Given the description of an element on the screen output the (x, y) to click on. 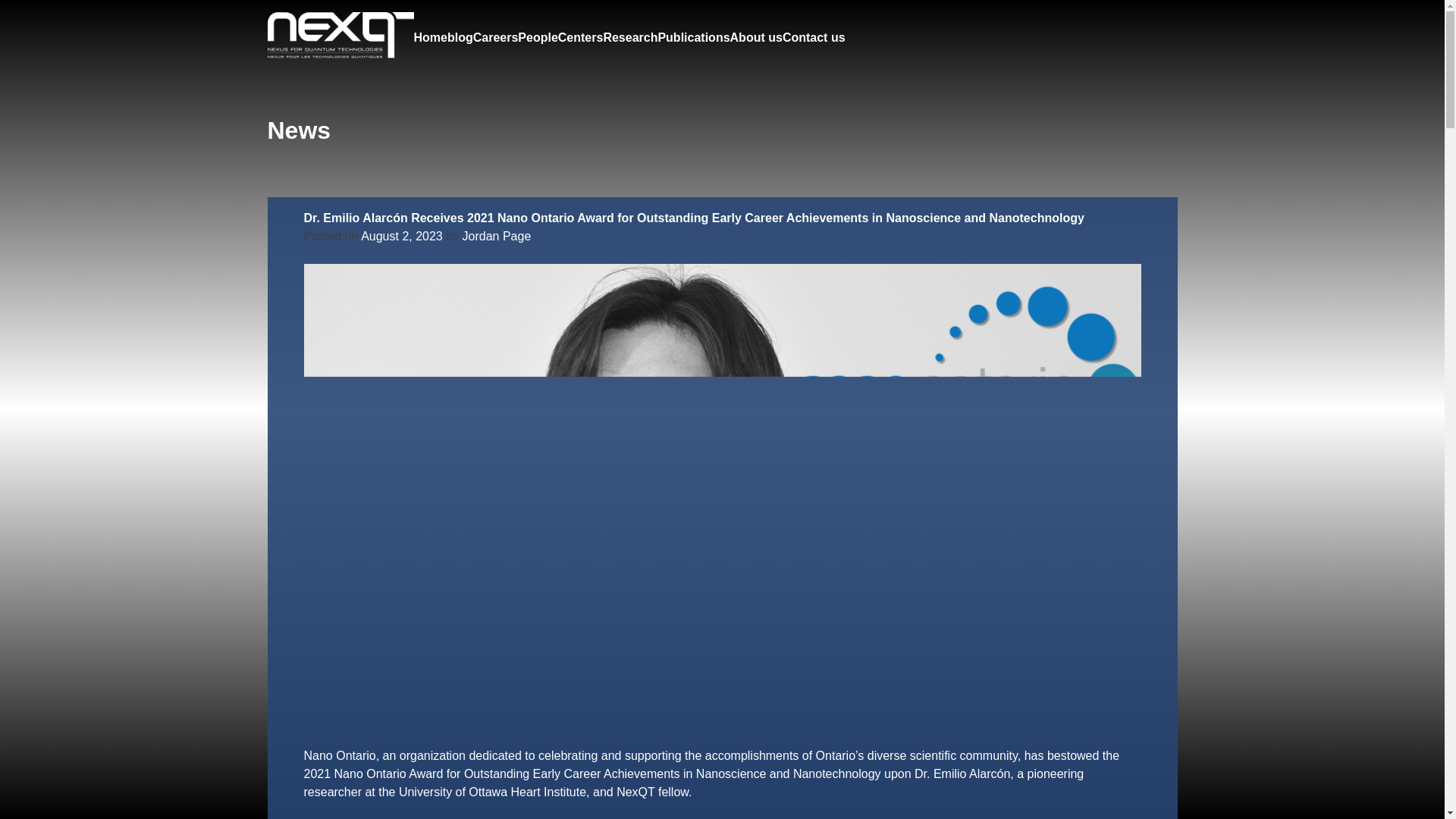
Contact us (814, 37)
NexQT (325, 108)
Home (429, 37)
blog (459, 37)
About us (756, 37)
Publications (693, 37)
August 2, 2023 (401, 236)
Centers (580, 37)
Research (630, 37)
People (537, 37)
Jordan Page (497, 236)
Careers (495, 37)
